Given the description of an element on the screen output the (x, y) to click on. 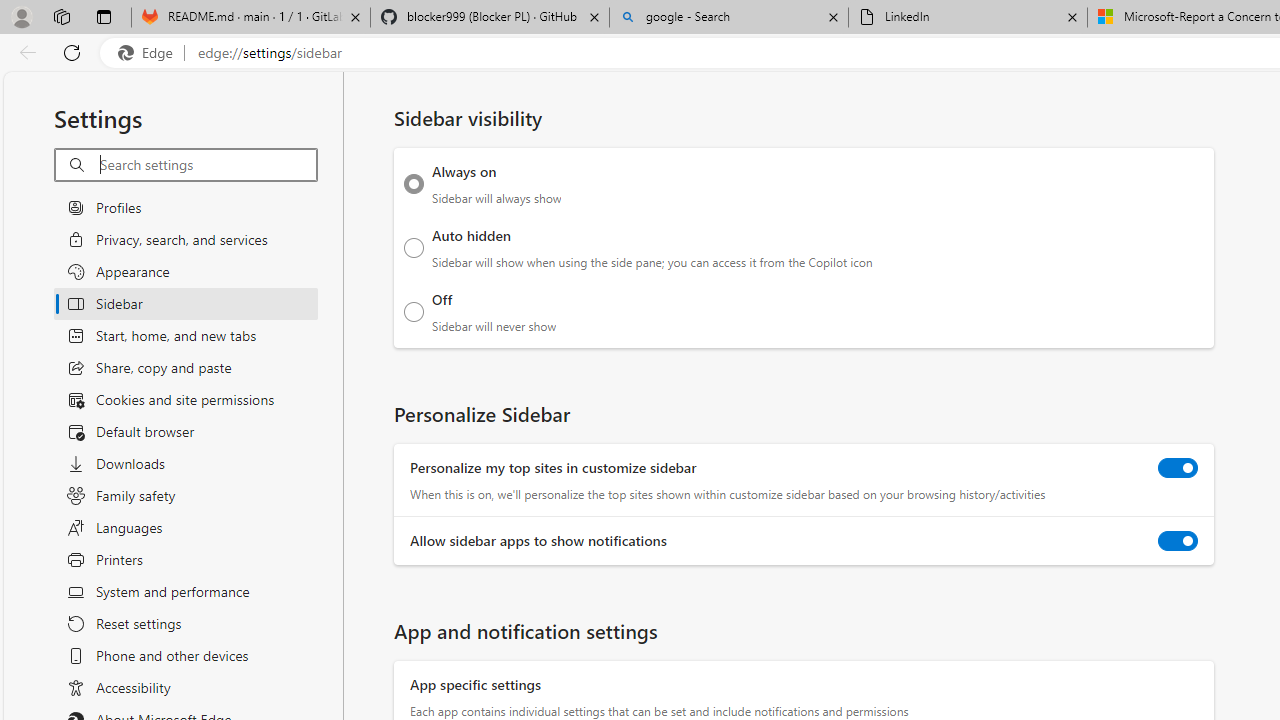
LinkedIn (967, 17)
Personalize my top sites in customize sidebar (1178, 467)
Off Sidebar will never show (413, 311)
Allow sidebar apps to show notifications (1178, 540)
Search settings (207, 165)
Always on Sidebar will always show (413, 183)
